Given the description of an element on the screen output the (x, y) to click on. 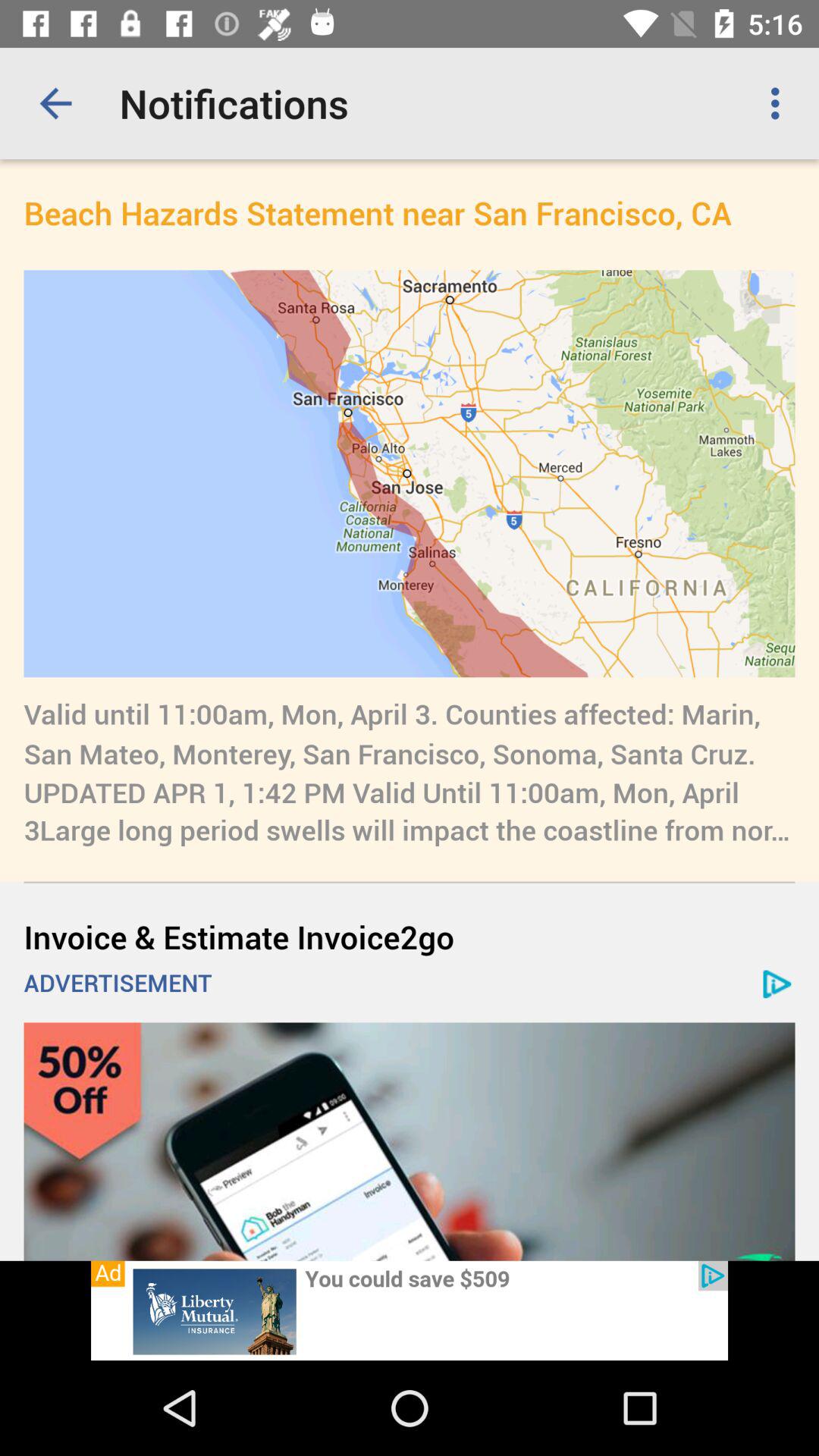
click on 50 off (409, 1141)
